Given the description of an element on the screen output the (x, y) to click on. 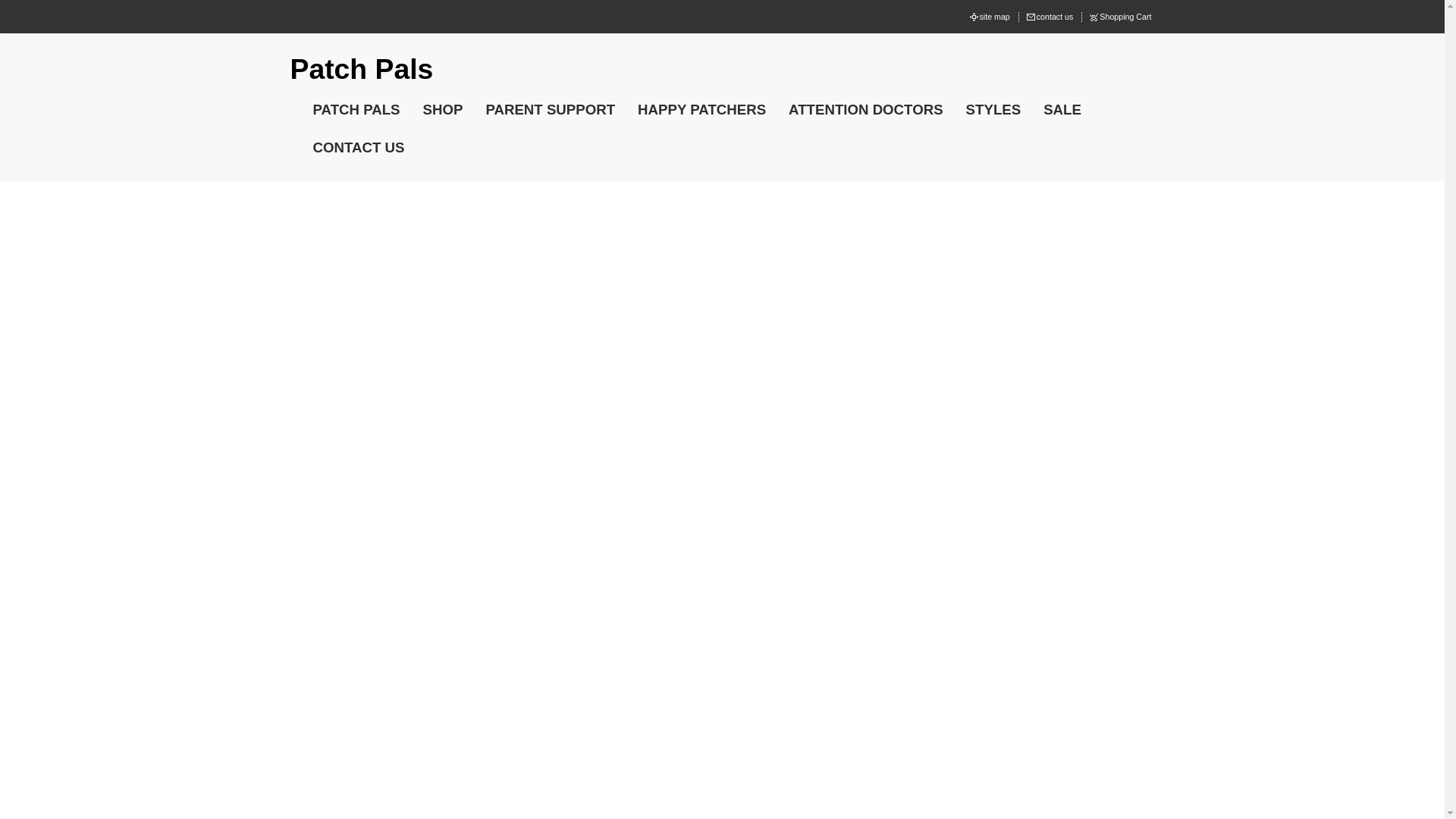
HAPPY PATCHERS (701, 109)
SALE (1062, 109)
Patch Pals (360, 69)
Shopping Cart (1126, 16)
PATCH PALS (356, 109)
STYLES (993, 109)
CONTACT US (358, 147)
site map (995, 16)
Patch Pals (360, 69)
SHOP (443, 109)
PARENT SUPPORT (550, 109)
ATTENTION DOCTORS (866, 109)
contact us (1055, 16)
